Given the description of an element on the screen output the (x, y) to click on. 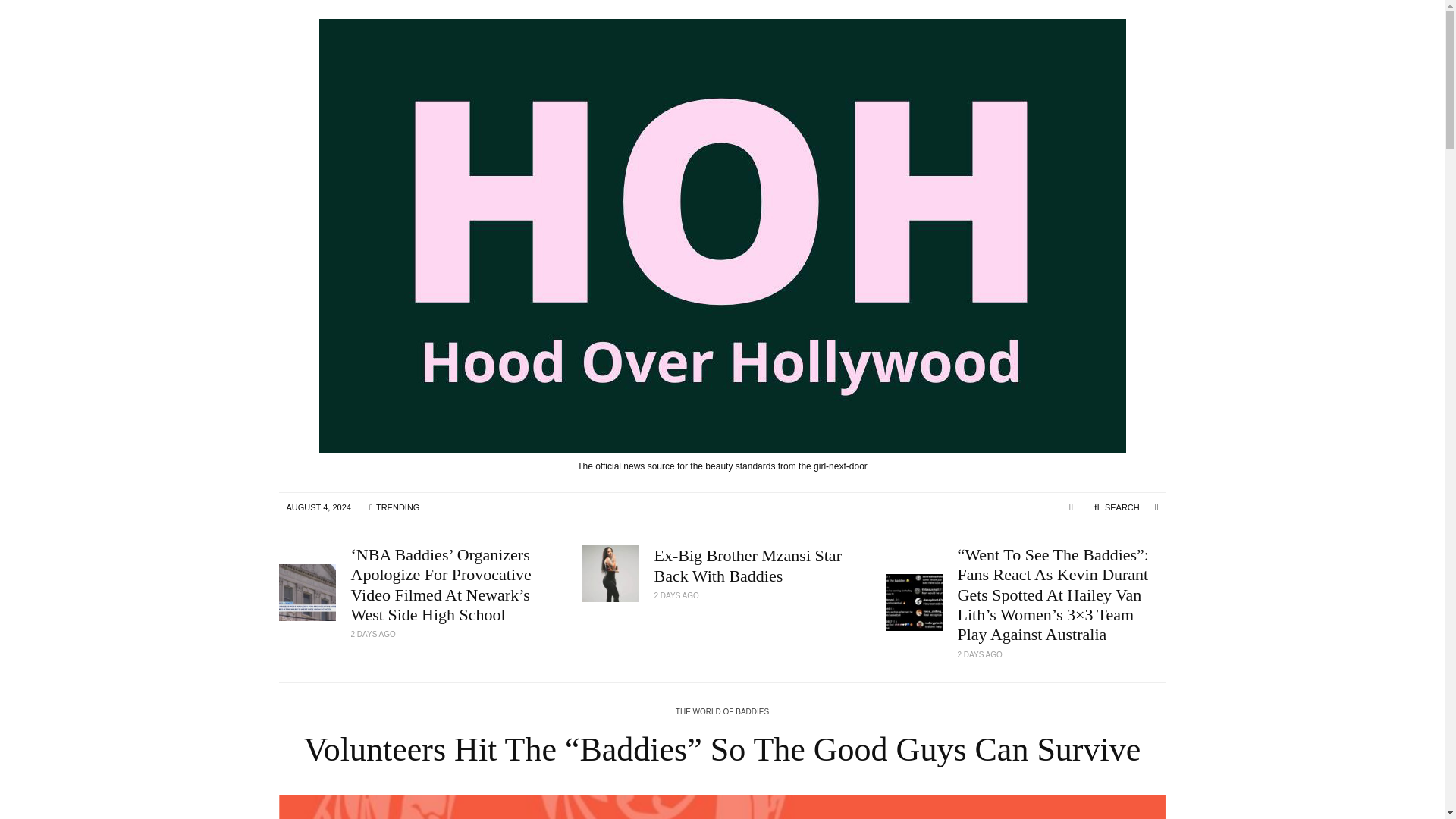
TRENDING (393, 507)
SEARCH (1116, 506)
THE WORLD OF BADDIES (721, 712)
Ex-Big Brother Mzansi Star Back With Baddies (757, 566)
